Given the description of an element on the screen output the (x, y) to click on. 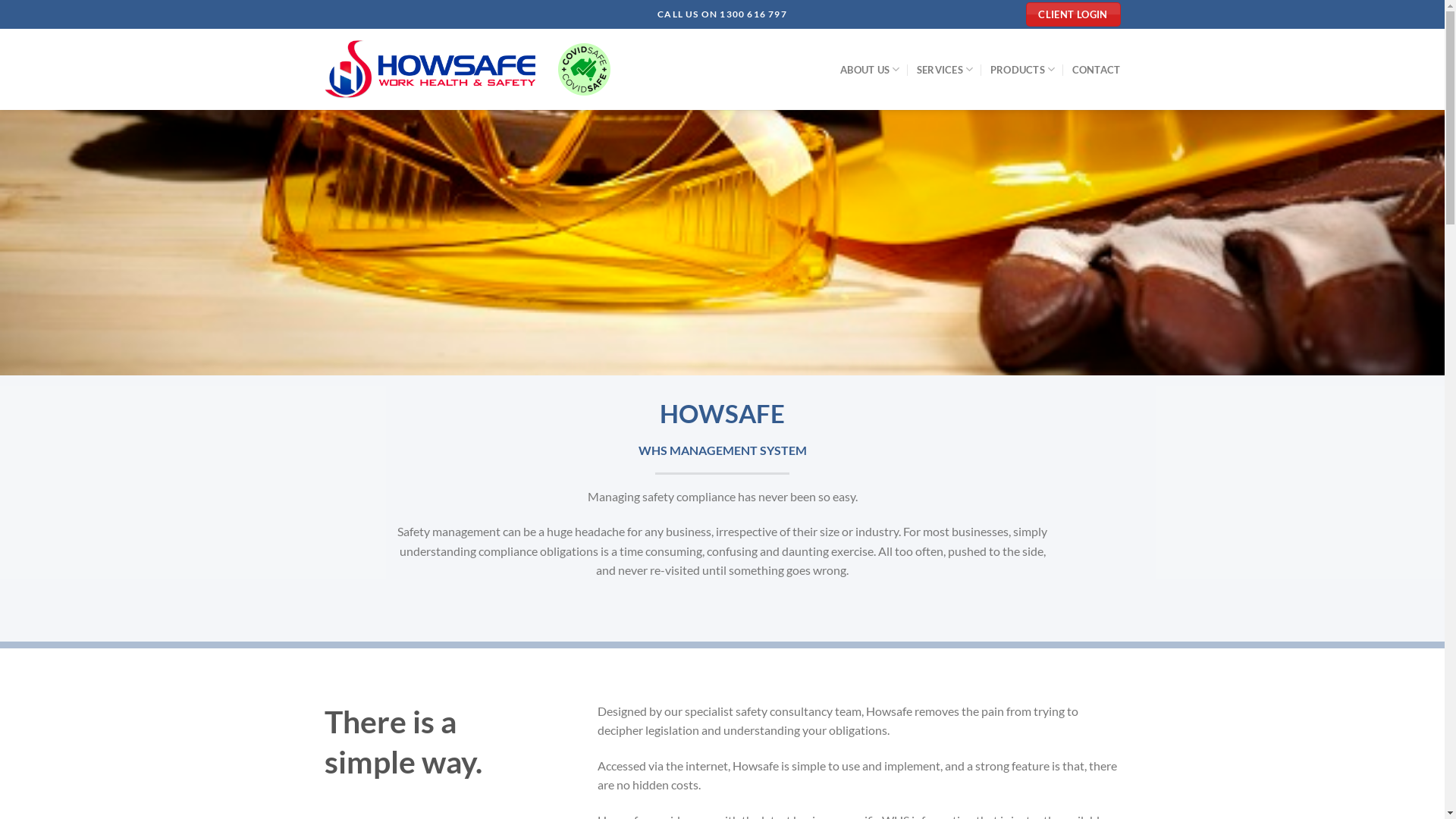
Howsafe - Work Health & Safety Management Element type: hover (429, 68)
CONTACT Element type: text (1096, 69)
ABOUT US Element type: text (870, 69)
CLIENT LOGIN Element type: text (1073, 14)
PRODUCTS Element type: text (1022, 69)
SERVICES Element type: text (944, 69)
1300 616 797 Element type: text (752, 13)
